Given the description of an element on the screen output the (x, y) to click on. 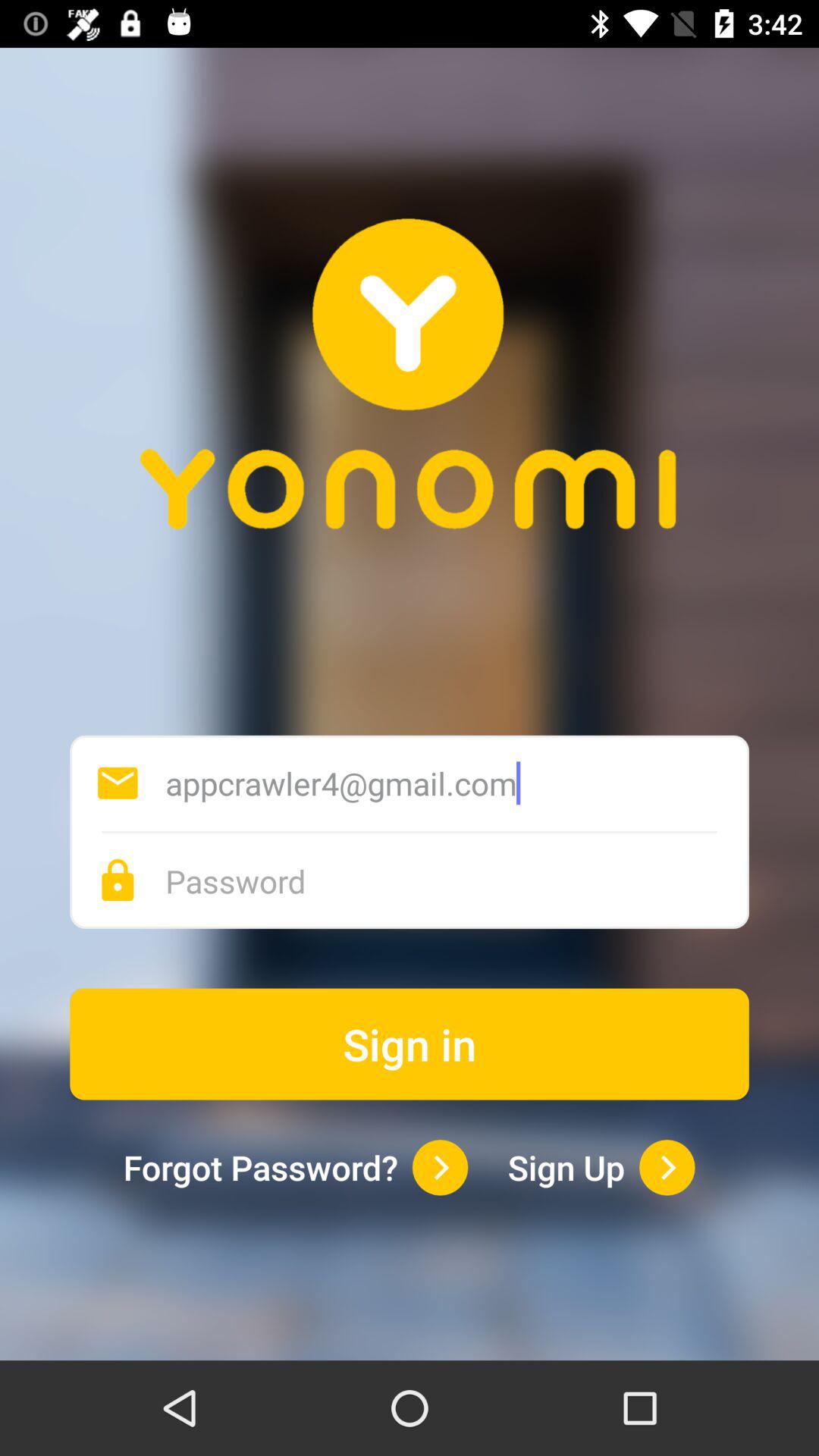
open (667, 1167)
